Given the description of an element on the screen output the (x, y) to click on. 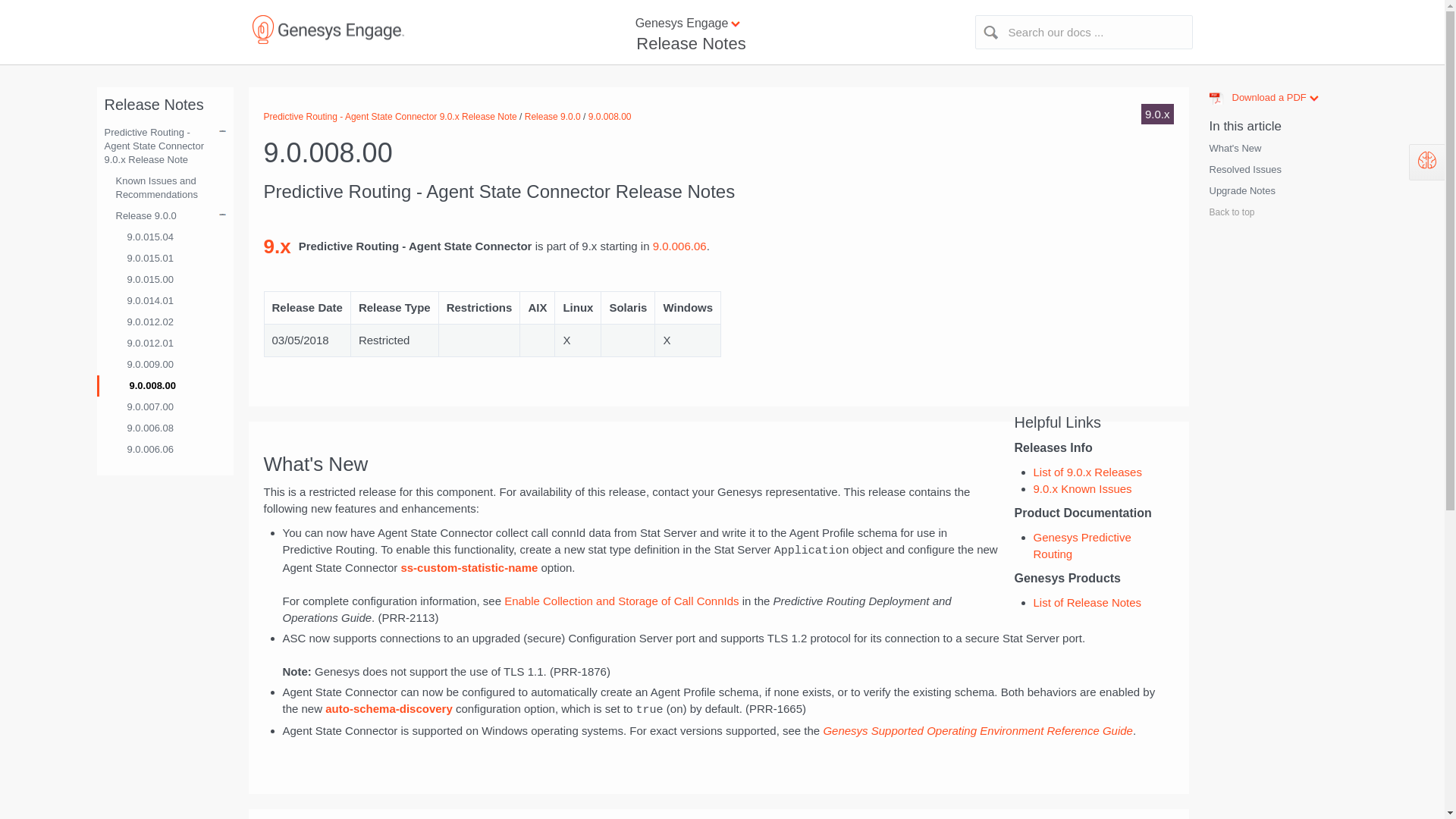
Back to top (1229, 212)
In this article (1242, 125)
Upgrade Notes (1272, 187)
Resolved Issues (1239, 191)
Upgrade Notes (1242, 169)
What's New (1268, 194)
Release Notes (1268, 151)
Back to top (688, 43)
Click to expand (1268, 219)
What's New (721, 23)
Documentation:RN:gpm-asc90rn:gpm-asc90rn:9.0.x (1233, 148)
Documentation:RN:gpm-asc90rn:gpm-asc90KI:9.0.x (718, 806)
